Given the description of an element on the screen output the (x, y) to click on. 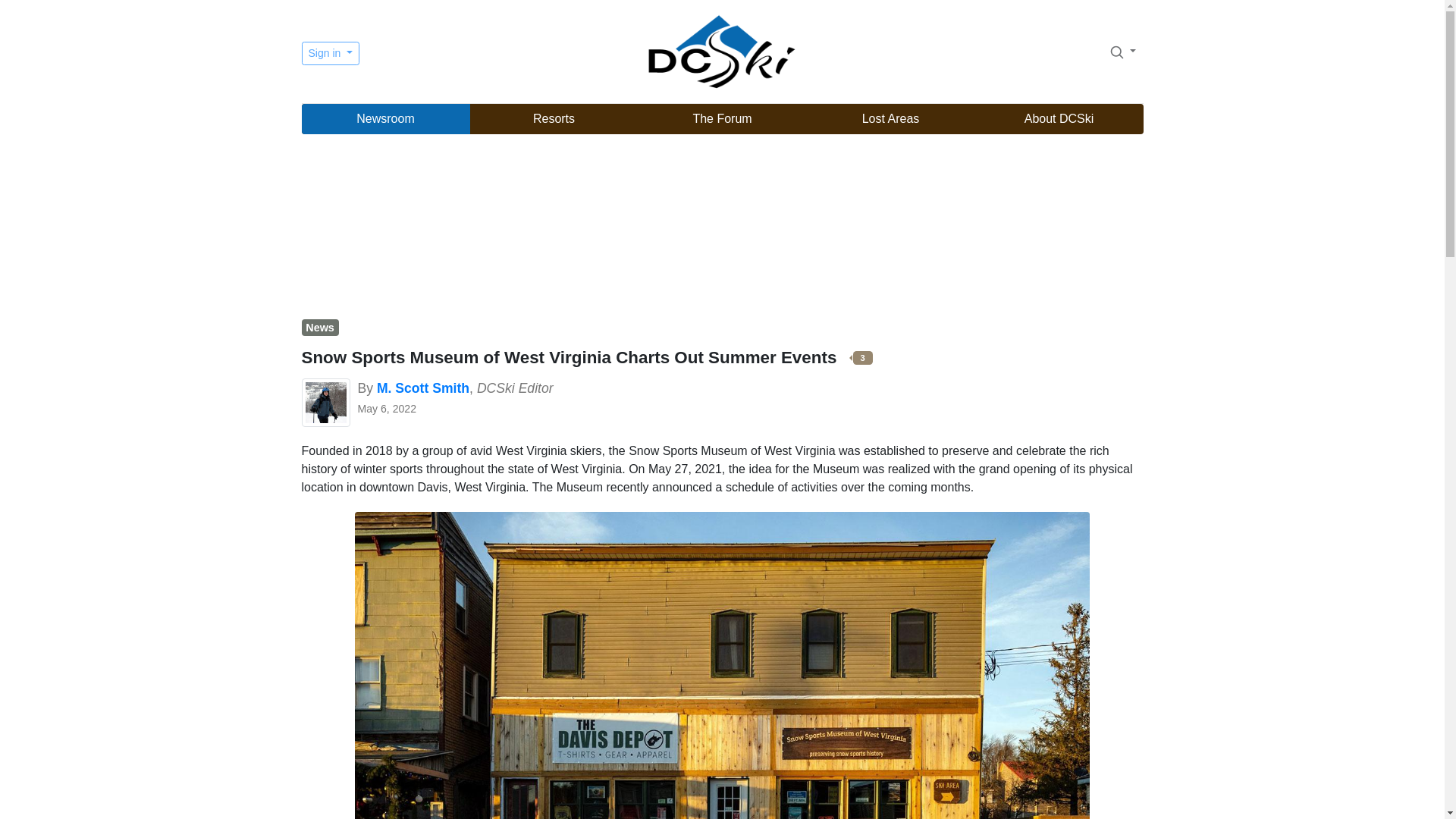
Advertisement (721, 227)
The Forum (722, 119)
3 (856, 357)
M. Scott Smith (422, 387)
About DCSki (1058, 119)
Newsroom (385, 119)
Lost Areas (890, 119)
Search (1116, 52)
Sign in (330, 53)
Resorts (554, 119)
Search (1122, 51)
